Given the description of an element on the screen output the (x, y) to click on. 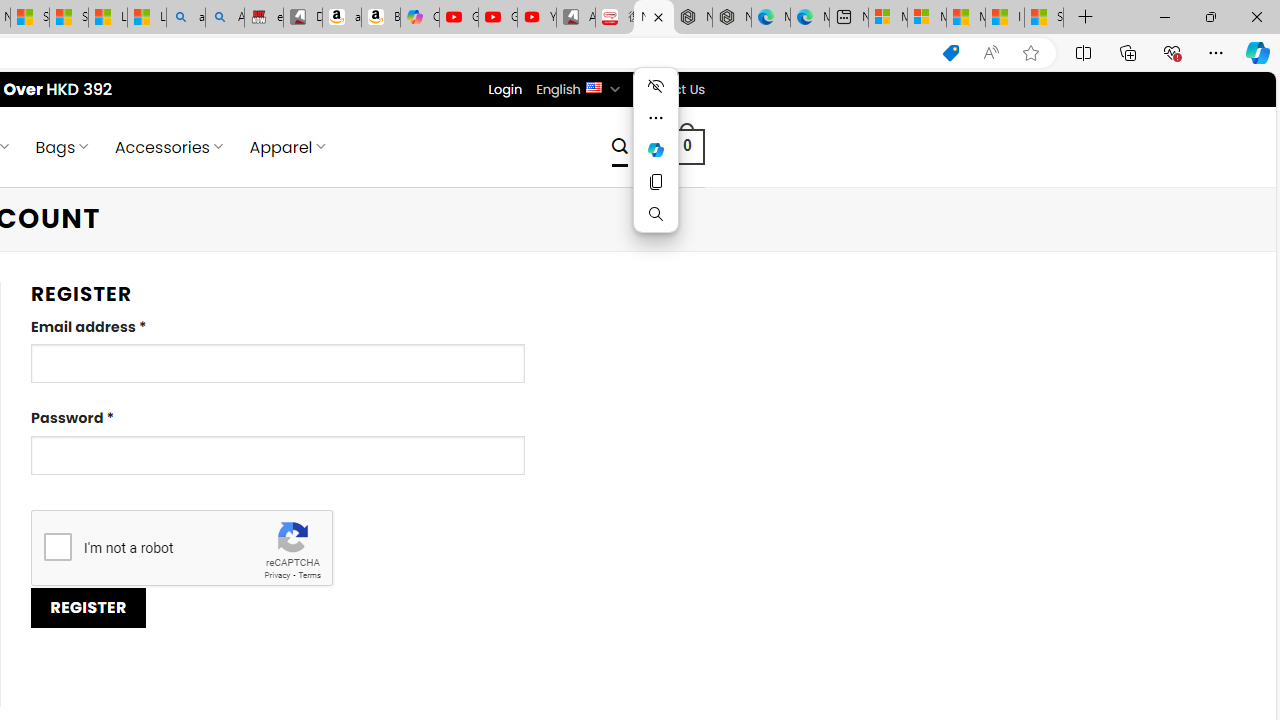
Amazon Echo Dot PNG - Search Images (225, 17)
Split screen (1083, 52)
Mini menu on text selection (655, 149)
New Tab (1085, 17)
Microsoft account | Privacy (926, 17)
Contact Us (669, 89)
Copy (655, 182)
Terms (309, 575)
Settings and more (Alt+F) (1215, 52)
